Given the description of an element on the screen output the (x, y) to click on. 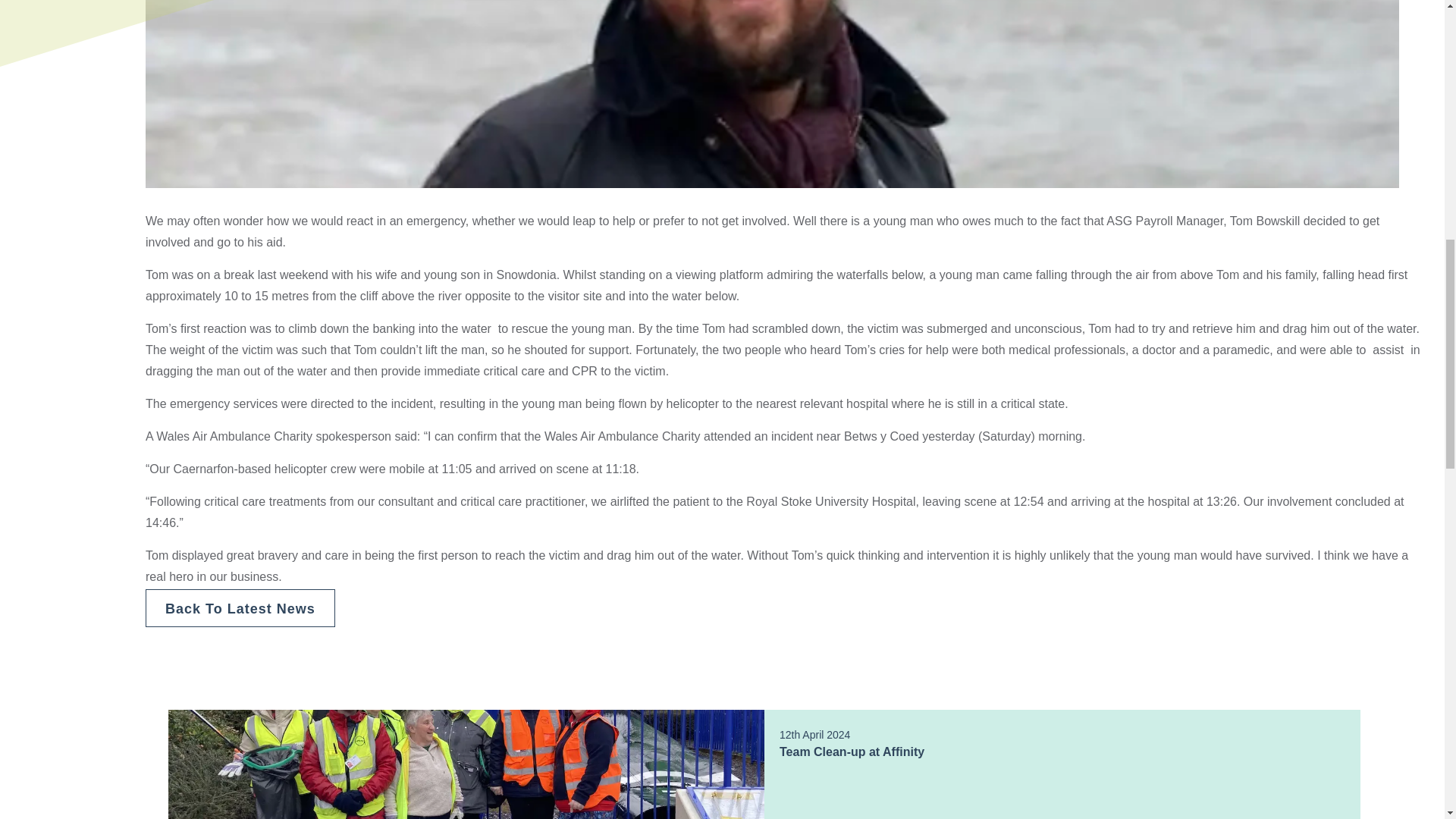
Back To Latest News (763, 764)
